Given the description of an element on the screen output the (x, y) to click on. 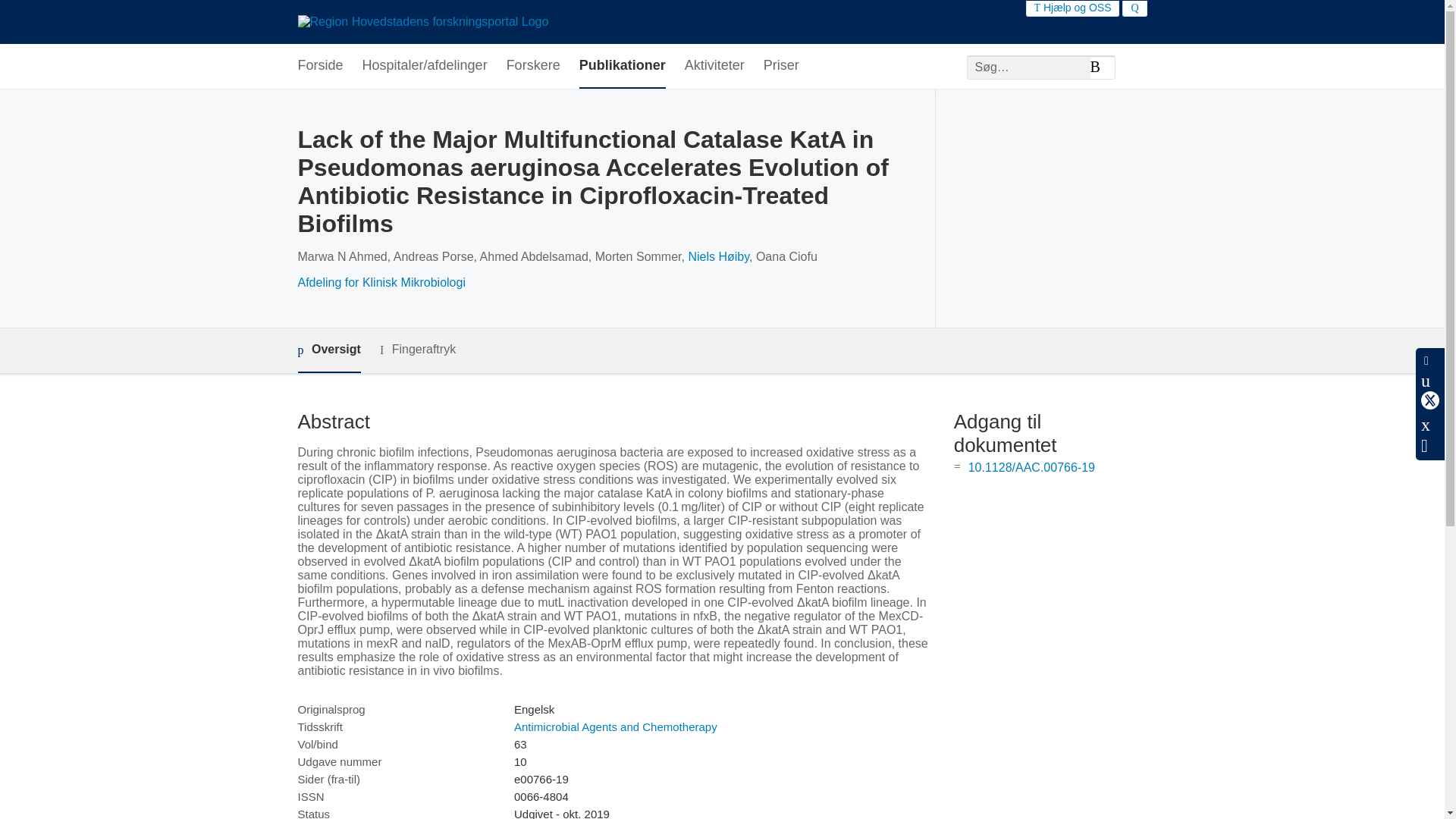
Oversigt (328, 350)
Forskere (533, 66)
Antimicrobial Agents and Chemotherapy (615, 726)
Afdeling for Klinisk Mikrobiologi (380, 282)
Fingeraftryk (417, 349)
Region Hovedstadens forskningsportal Forside (422, 21)
Aktiviteter (714, 66)
Publikationer (622, 66)
Forside (319, 66)
